Given the description of an element on the screen output the (x, y) to click on. 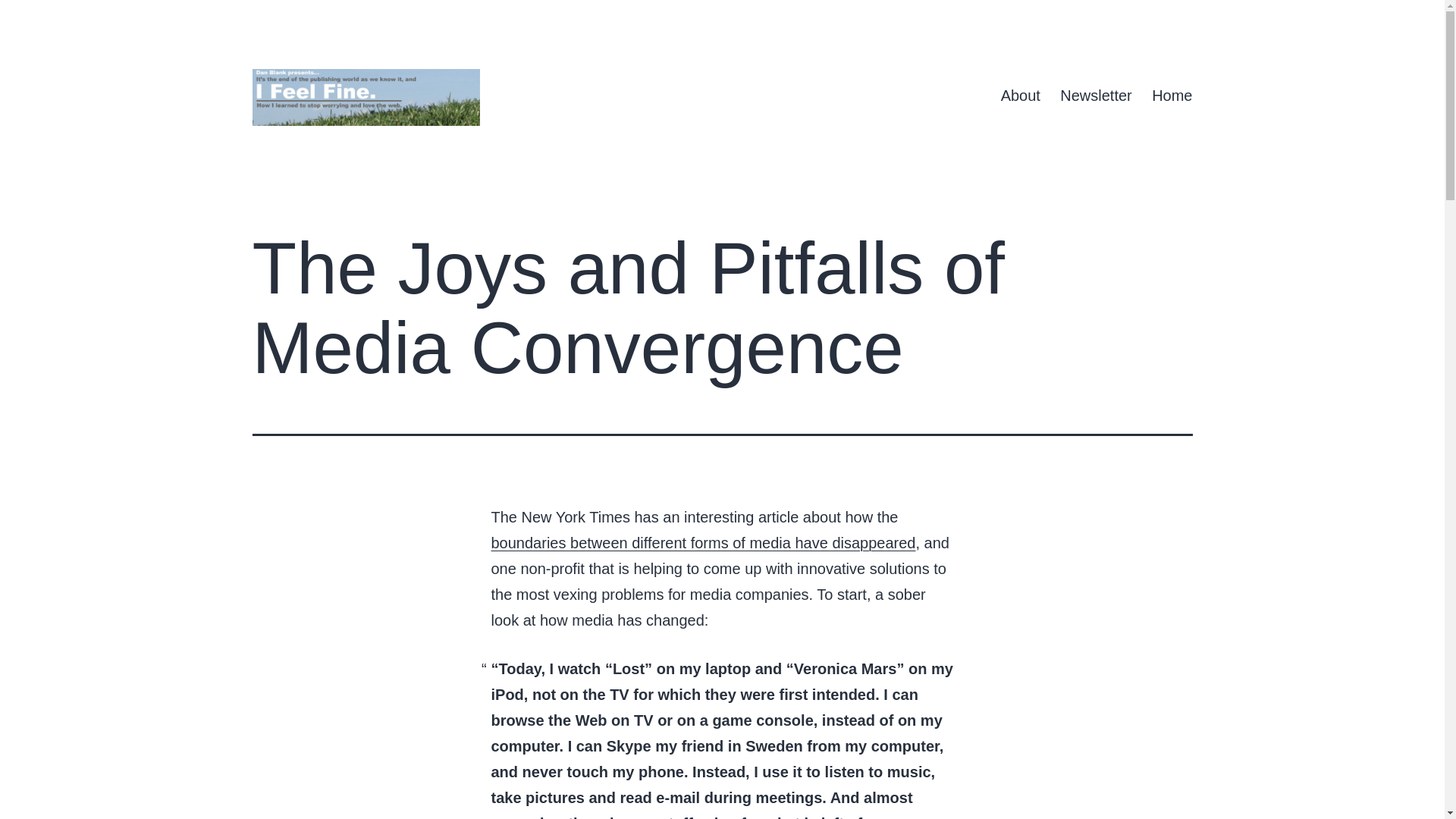
Newsletter (1095, 95)
About (1019, 95)
Media Innovations, Leaping From Lab to Screen (703, 542)
Home (1171, 95)
boundaries between different forms of media have disappeared (703, 542)
